Given the description of an element on the screen output the (x, y) to click on. 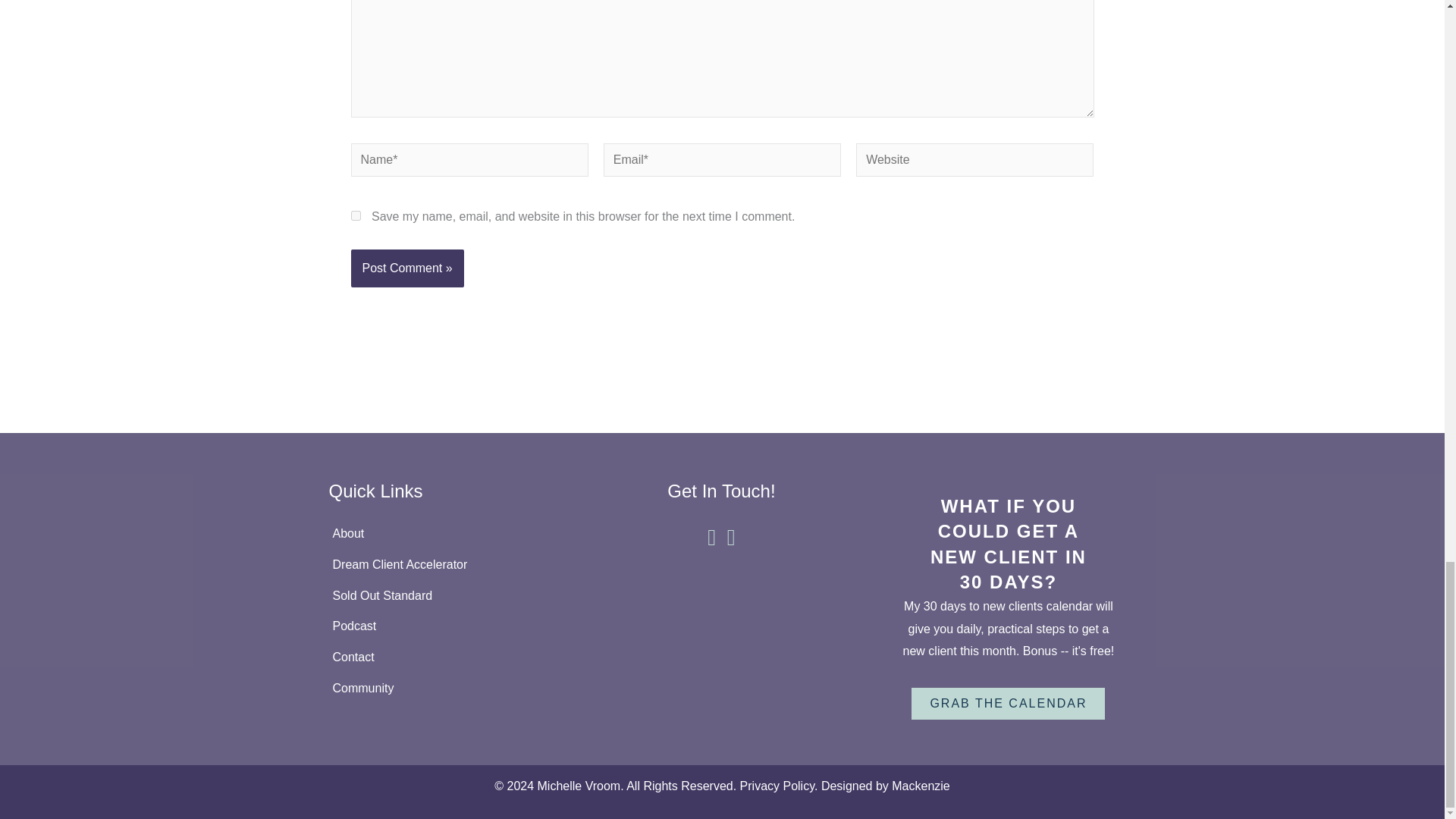
Mackenzie (920, 785)
About (435, 533)
Privacy Policy  (776, 785)
yes (354, 215)
GRAB THE CALENDAR (1008, 703)
Podcast (435, 625)
Community (435, 688)
Privacy Policy (776, 785)
Contact (435, 657)
Dream Client Accelerator (435, 564)
Sold Out Standard (435, 595)
